Given the description of an element on the screen output the (x, y) to click on. 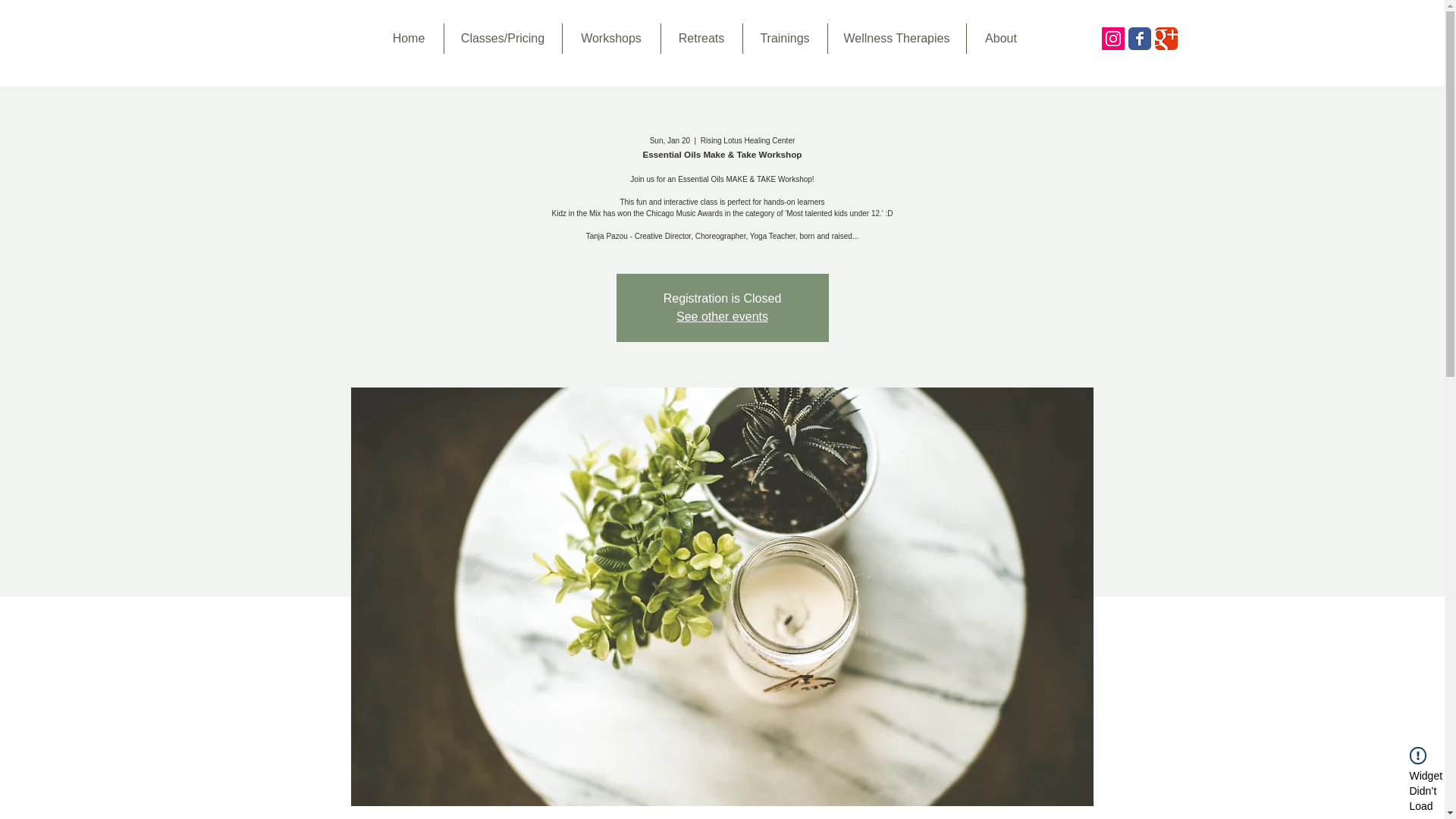
Retreats (700, 38)
See other events (722, 316)
About (1000, 38)
Trainings (784, 38)
Home (409, 38)
Wellness Therapies (896, 38)
Workshops (609, 38)
